Given the description of an element on the screen output the (x, y) to click on. 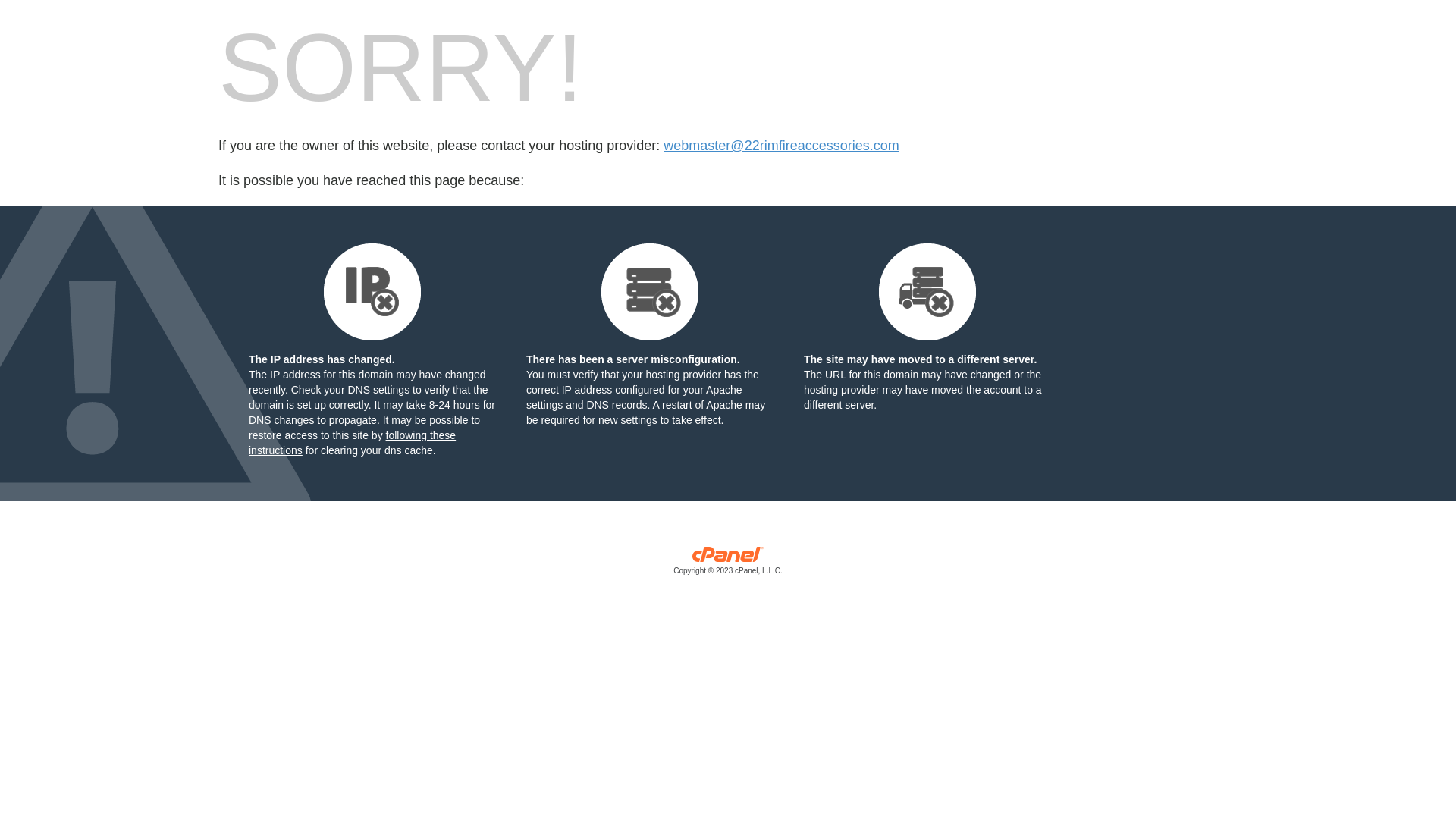
webmaster@22rimfireaccessories.com Element type: text (780, 145)
following these instructions Element type: text (351, 442)
